Given the description of an element on the screen output the (x, y) to click on. 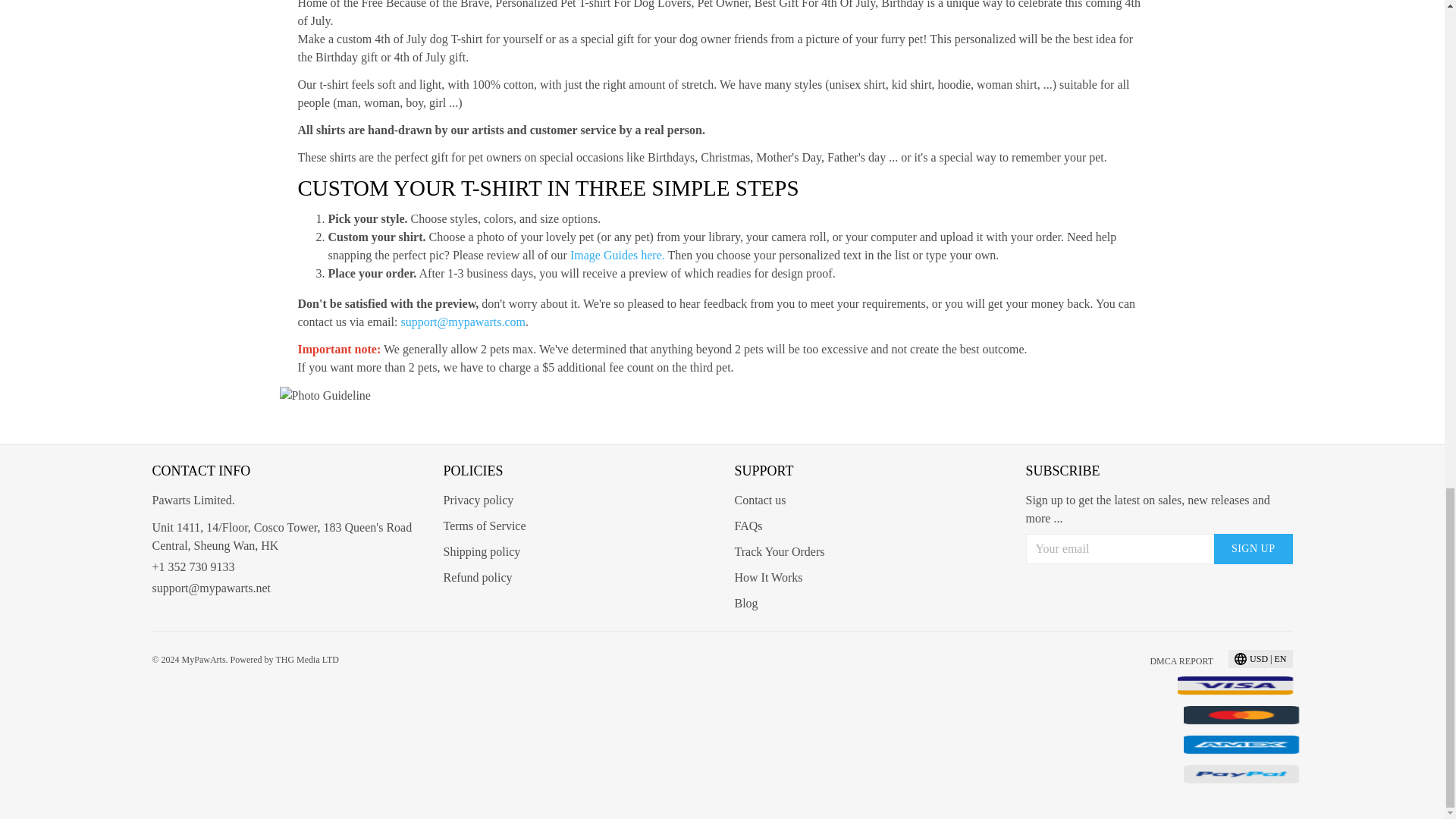
Terms of Service (483, 525)
SIGN UP (1253, 548)
Shipping policy (480, 551)
Refund policy (477, 576)
Contact us (759, 499)
Blog (745, 603)
Track Your Orders (778, 551)
Privacy policy (477, 499)
Image Guides here. (617, 254)
DMCA REPORT (1181, 661)
How It Works (767, 576)
FAQs (747, 525)
